Given the description of an element on the screen output the (x, y) to click on. 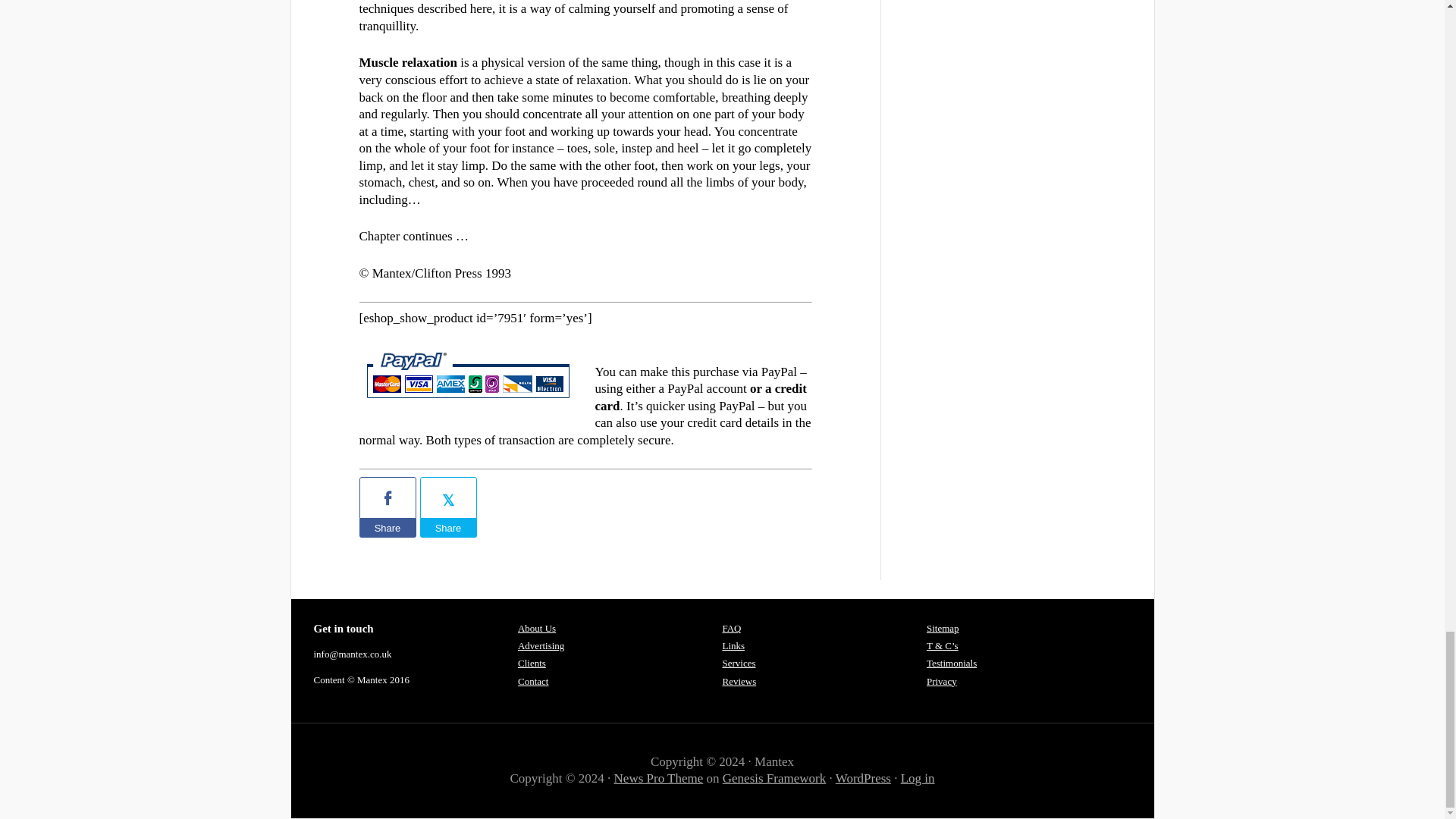
Share (448, 527)
WordPress (863, 778)
Share (387, 527)
Testimonials (951, 663)
Log in (917, 778)
FAQ (731, 627)
Services (738, 663)
Contact (533, 681)
Reviews (738, 681)
Links (733, 645)
About Us (537, 627)
Sitemap (942, 627)
Advertising (541, 645)
News Pro Theme (658, 778)
Privacy (941, 681)
